Given the description of an element on the screen output the (x, y) to click on. 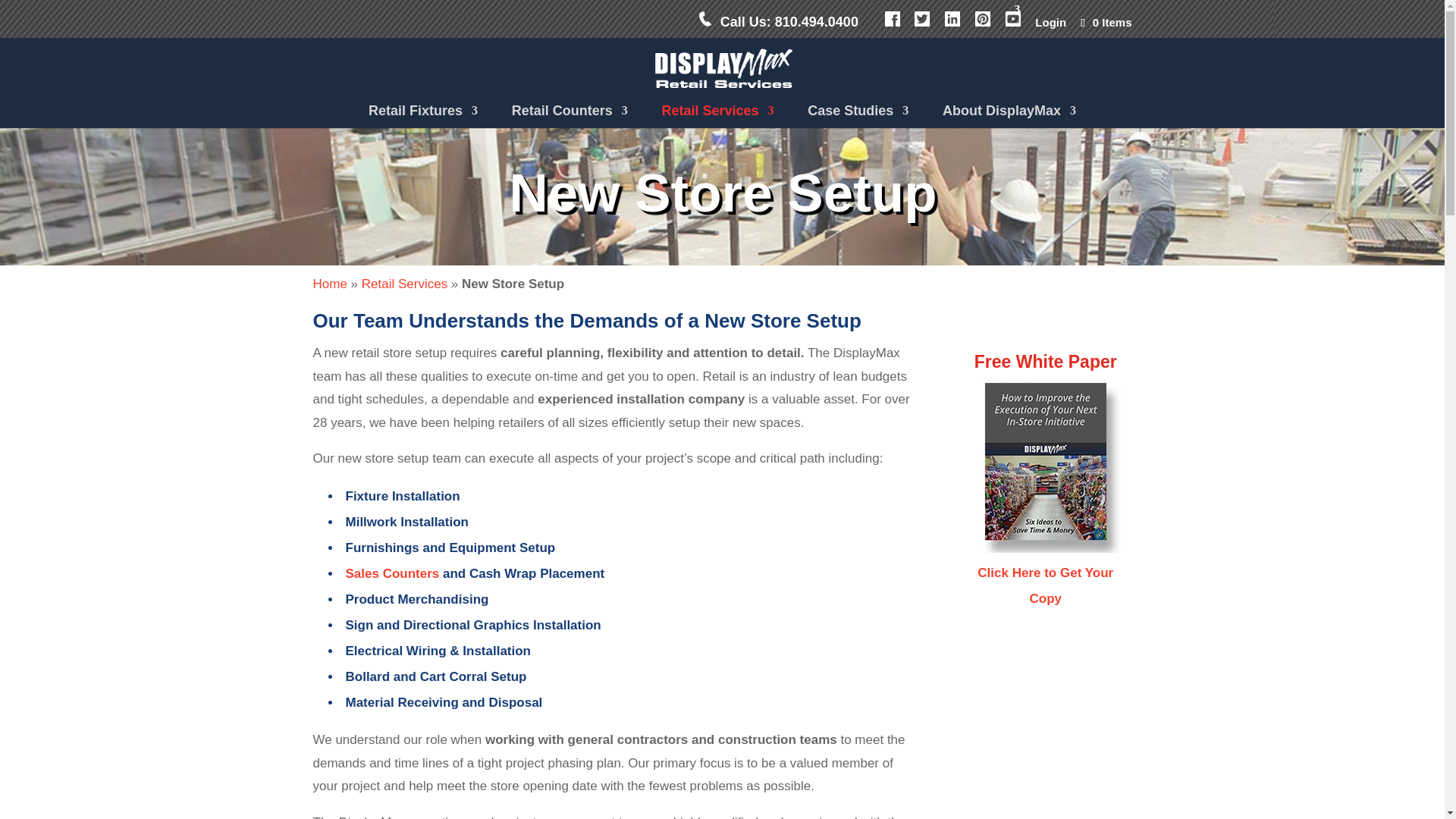
Call Us: 810.494.0400 (783, 23)
Login (1050, 25)
Retail Services (717, 115)
Retail Counters (569, 115)
0 Items (1104, 21)
Retail Fixtures (422, 115)
